Given the description of an element on the screen output the (x, y) to click on. 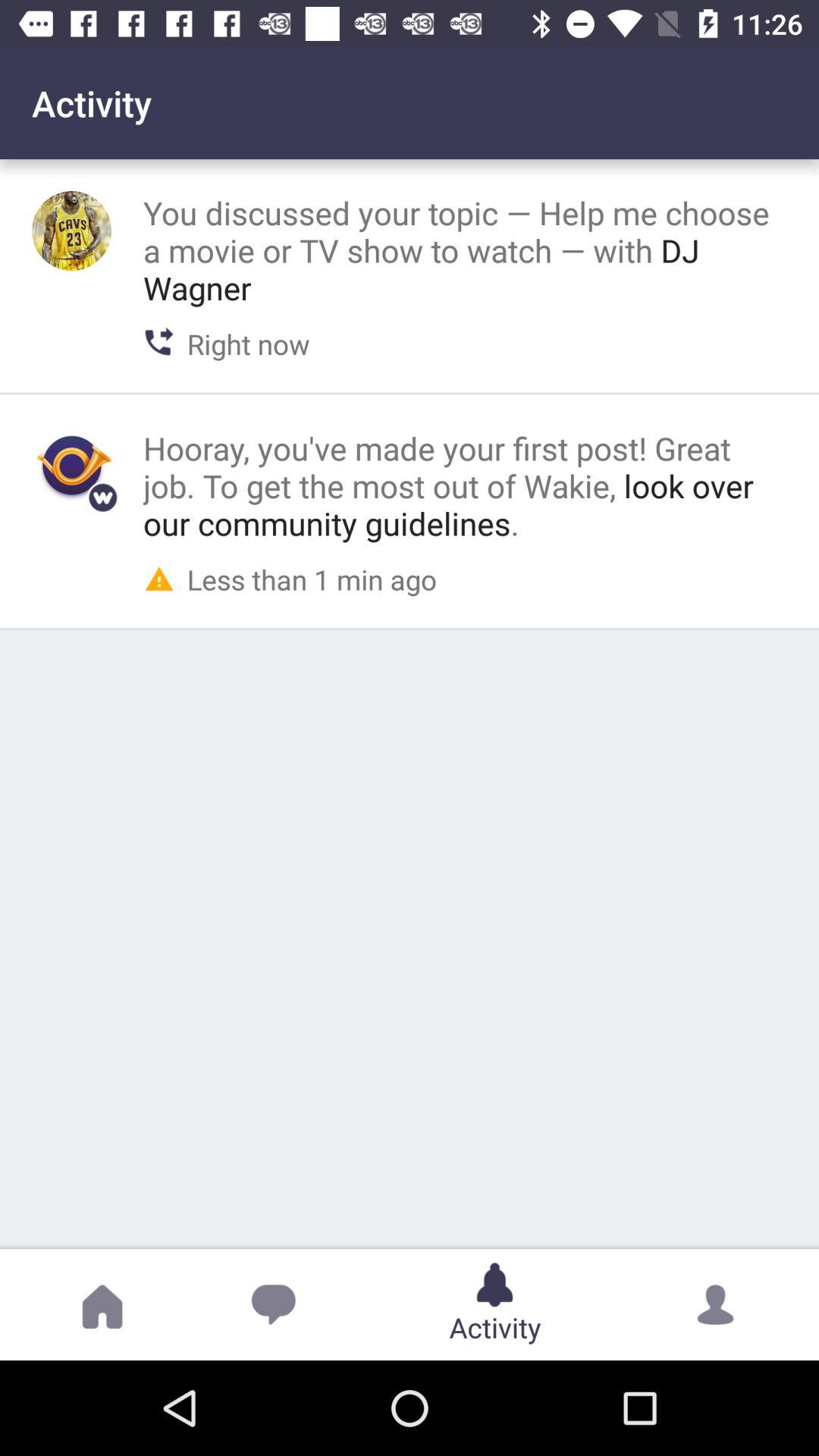
horn icon (71, 466)
